Given the description of an element on the screen output the (x, y) to click on. 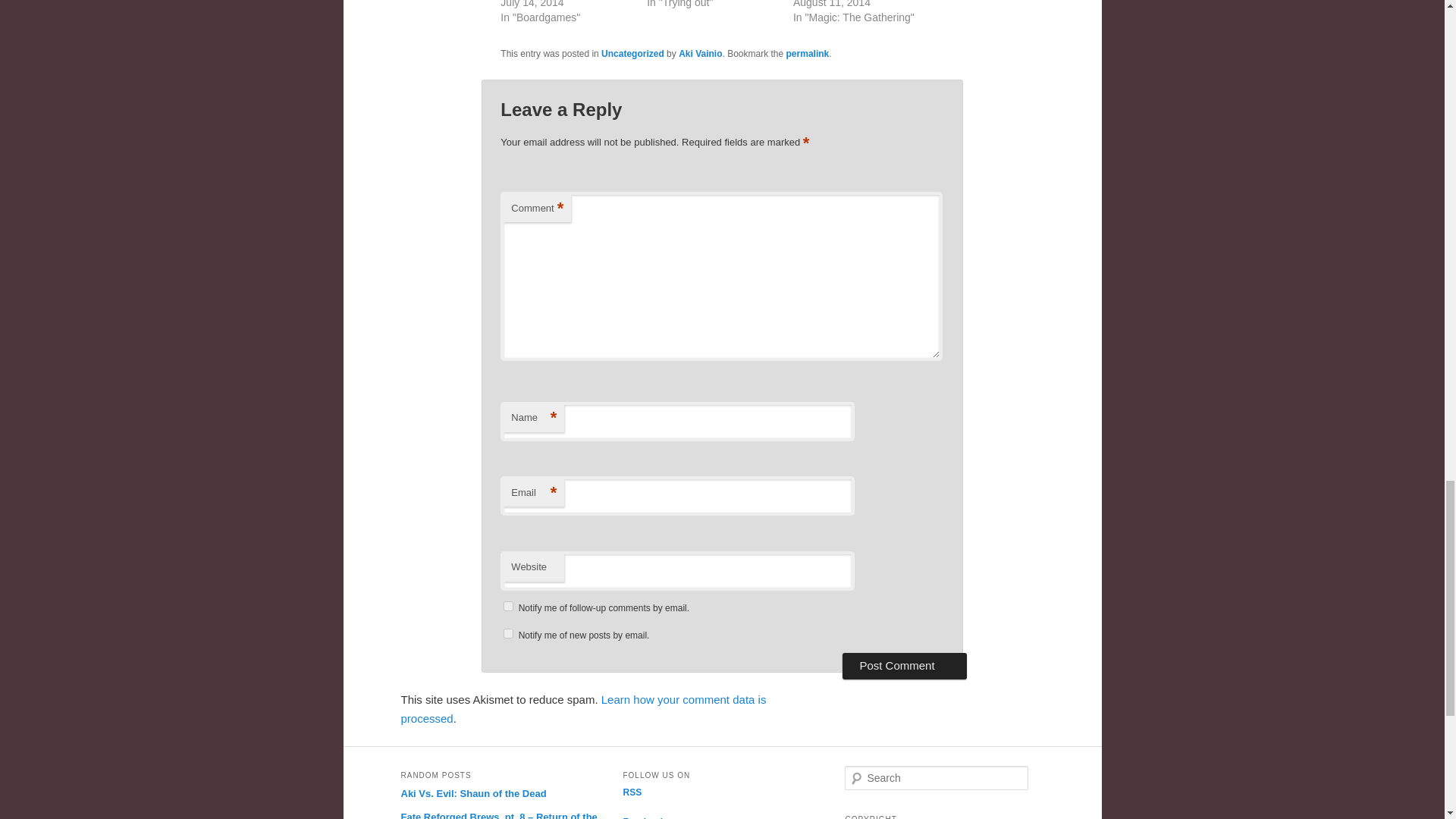
Learn how your comment data is processed (582, 707)
Uncategorized (632, 53)
Permalink to Best of Search Terms (807, 53)
subscribe (508, 605)
Facebook (644, 817)
permalink (807, 53)
Post Comment (904, 665)
Aki Vs. Evil: Shaun of the Dead (473, 793)
Post Comment (904, 665)
subscribe (508, 633)
Aki Vainio (700, 53)
RSS (632, 792)
